Given the description of an element on the screen output the (x, y) to click on. 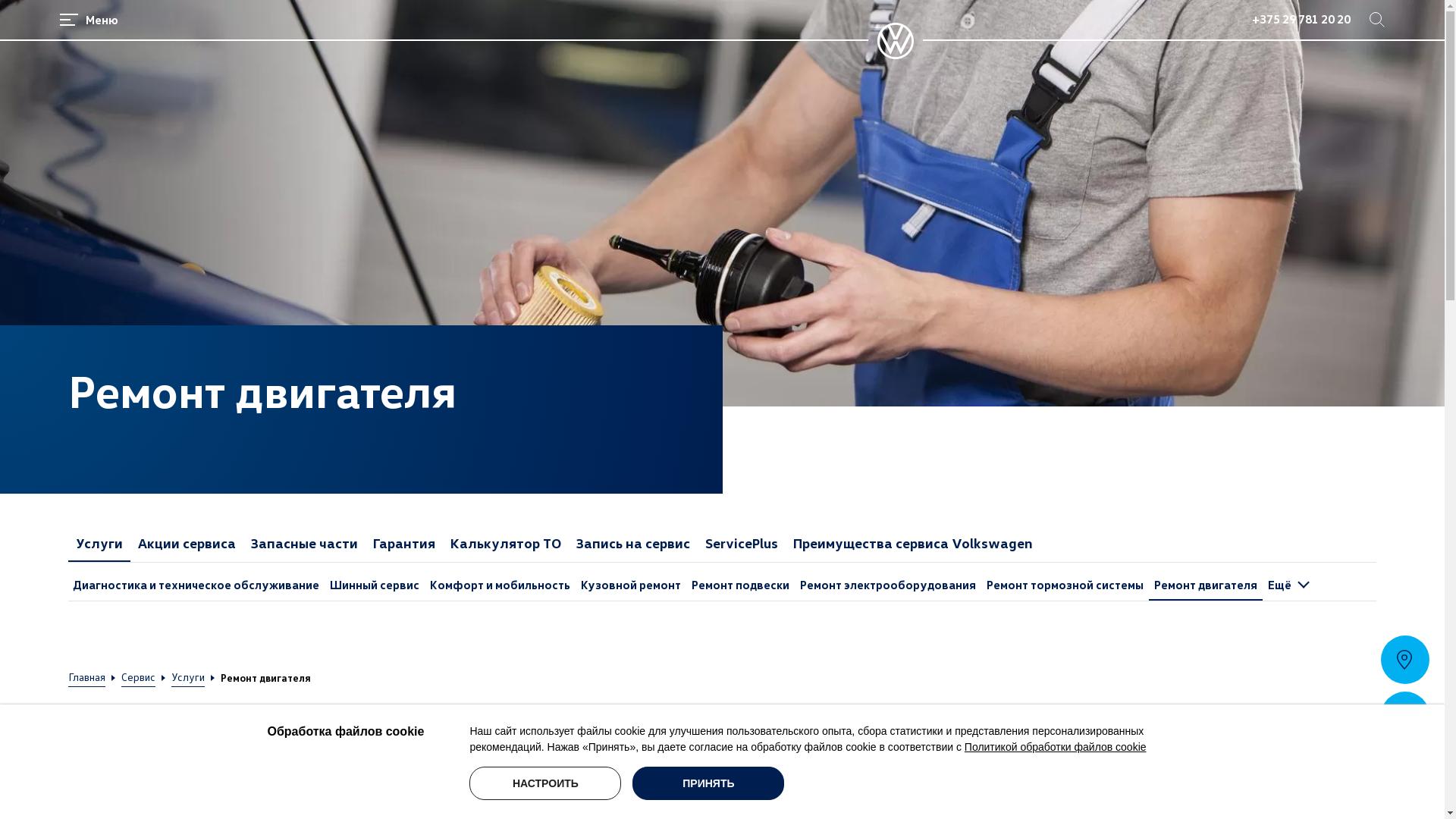
ServicePlus Element type: text (741, 542)
+375 29 781 20 20 Element type: text (1301, 20)
